Given the description of an element on the screen output the (x, y) to click on. 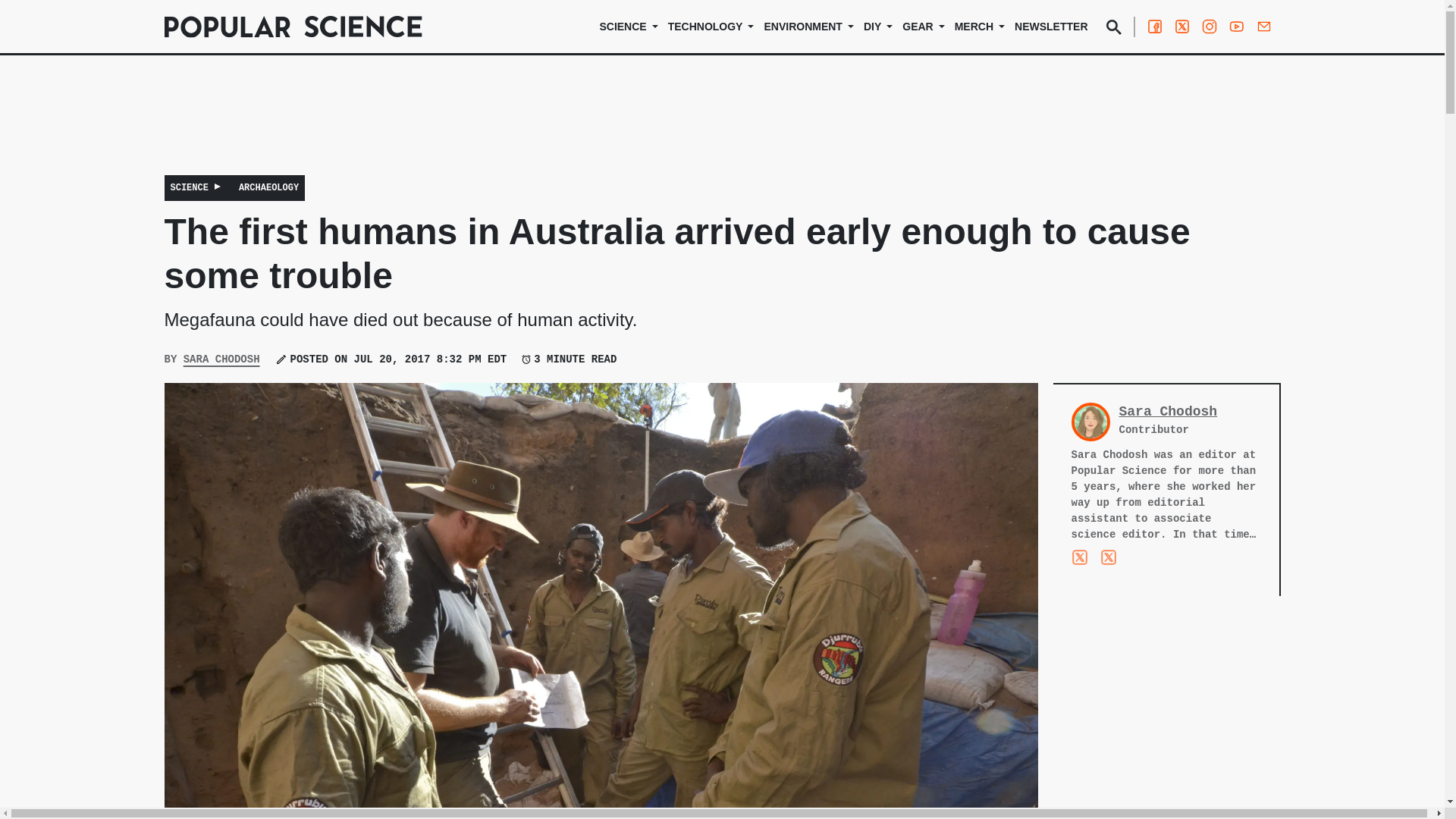
3rd party ad content (721, 125)
3rd party ad content (1165, 720)
